Given the description of an element on the screen output the (x, y) to click on. 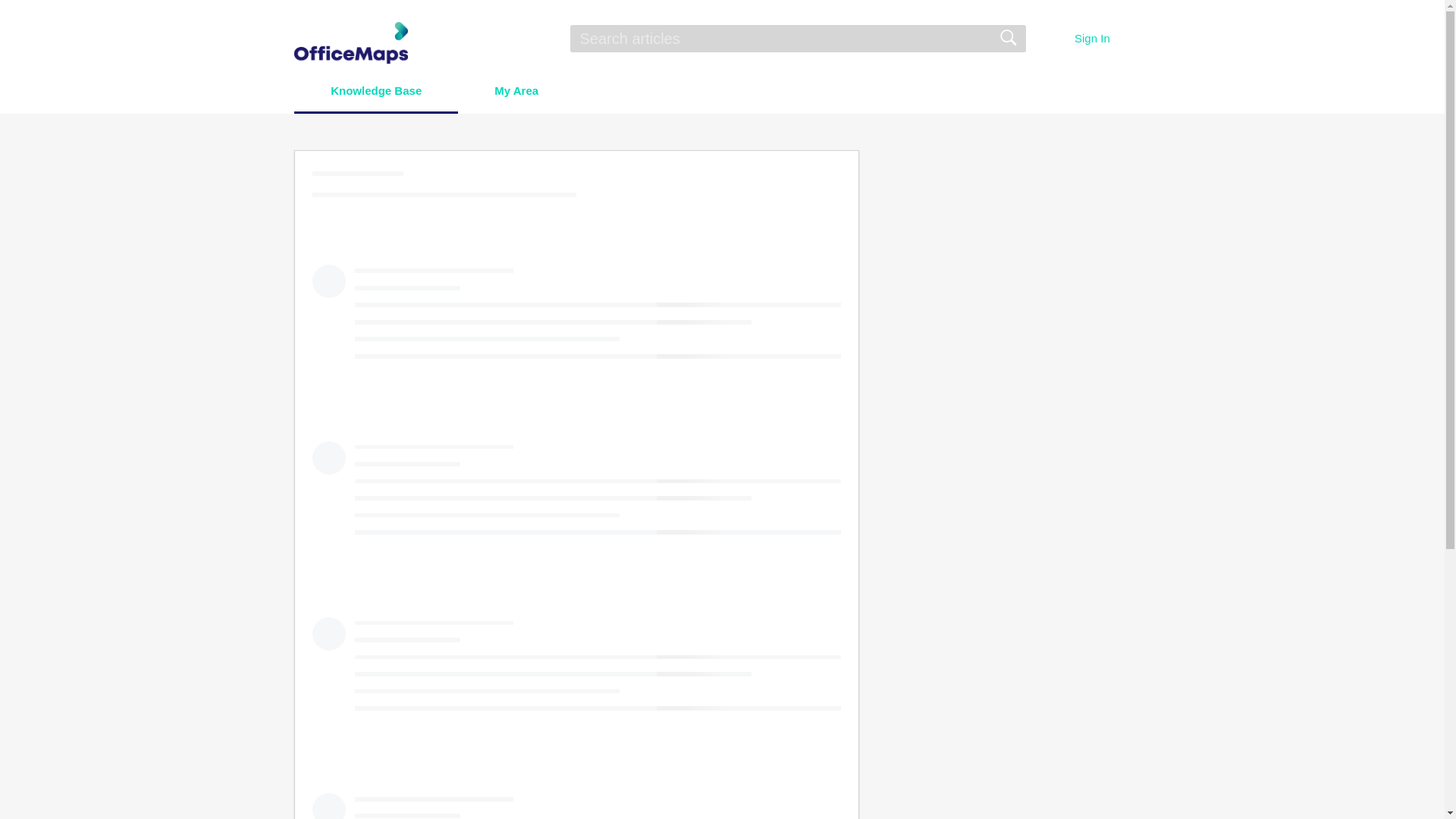
Sign In (1091, 38)
My Area (516, 90)
Search (1007, 38)
My Area (516, 90)
Knowledge Base (376, 90)
Knowledge Base (376, 90)
